Given the description of an element on the screen output the (x, y) to click on. 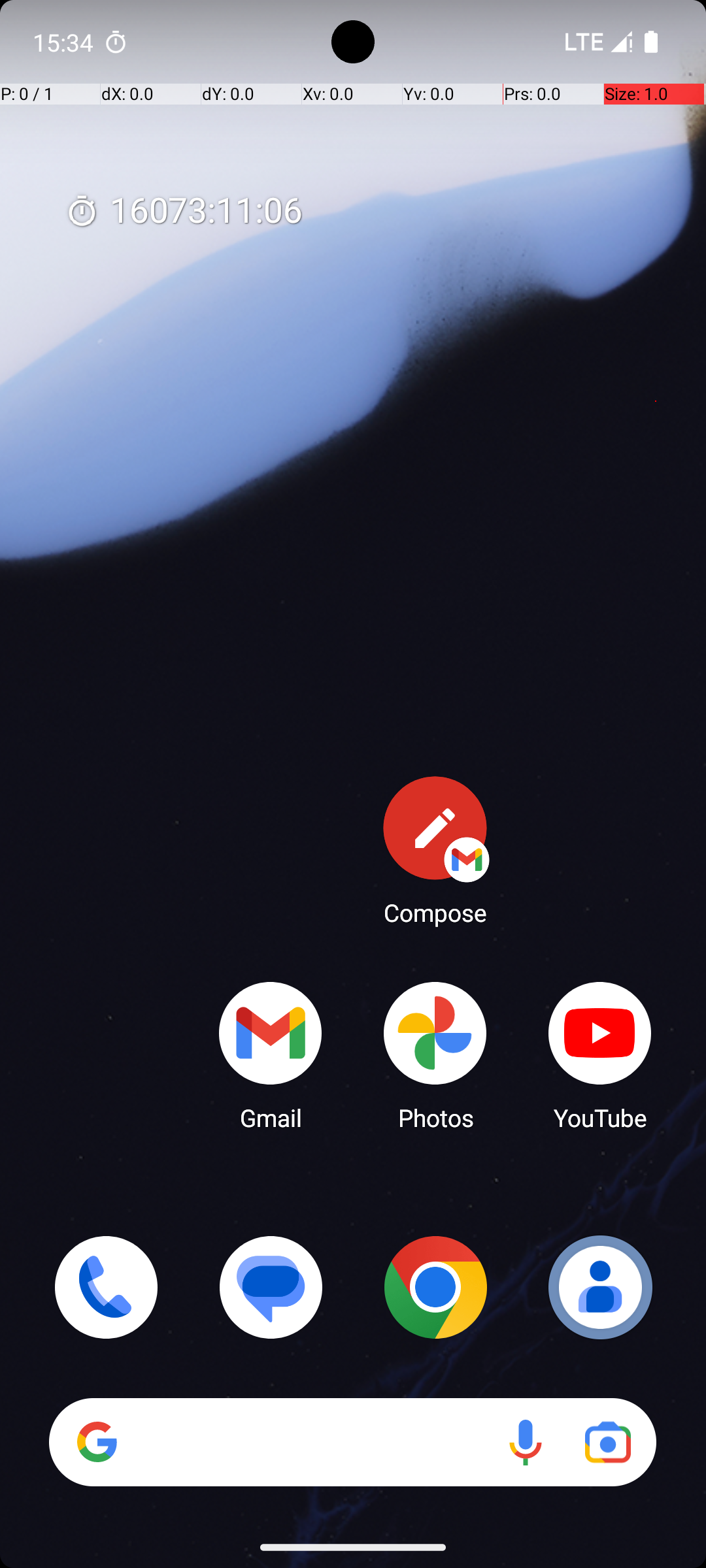
16073:11:06 Element type: android.widget.TextView (183, 210)
